Given the description of an element on the screen output the (x, y) to click on. 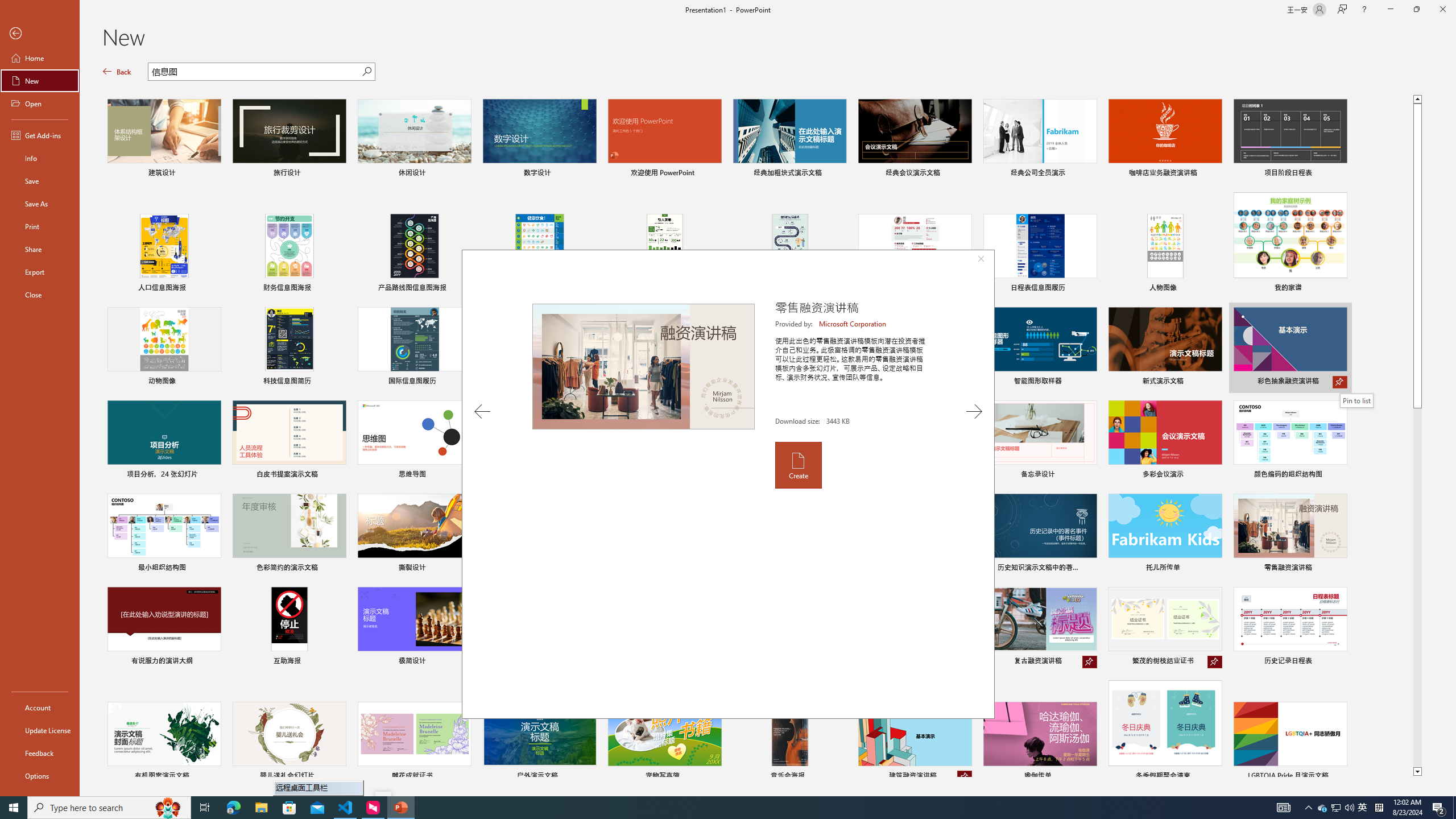
Create (797, 465)
Update License (40, 730)
